Given the description of an element on the screen output the (x, y) to click on. 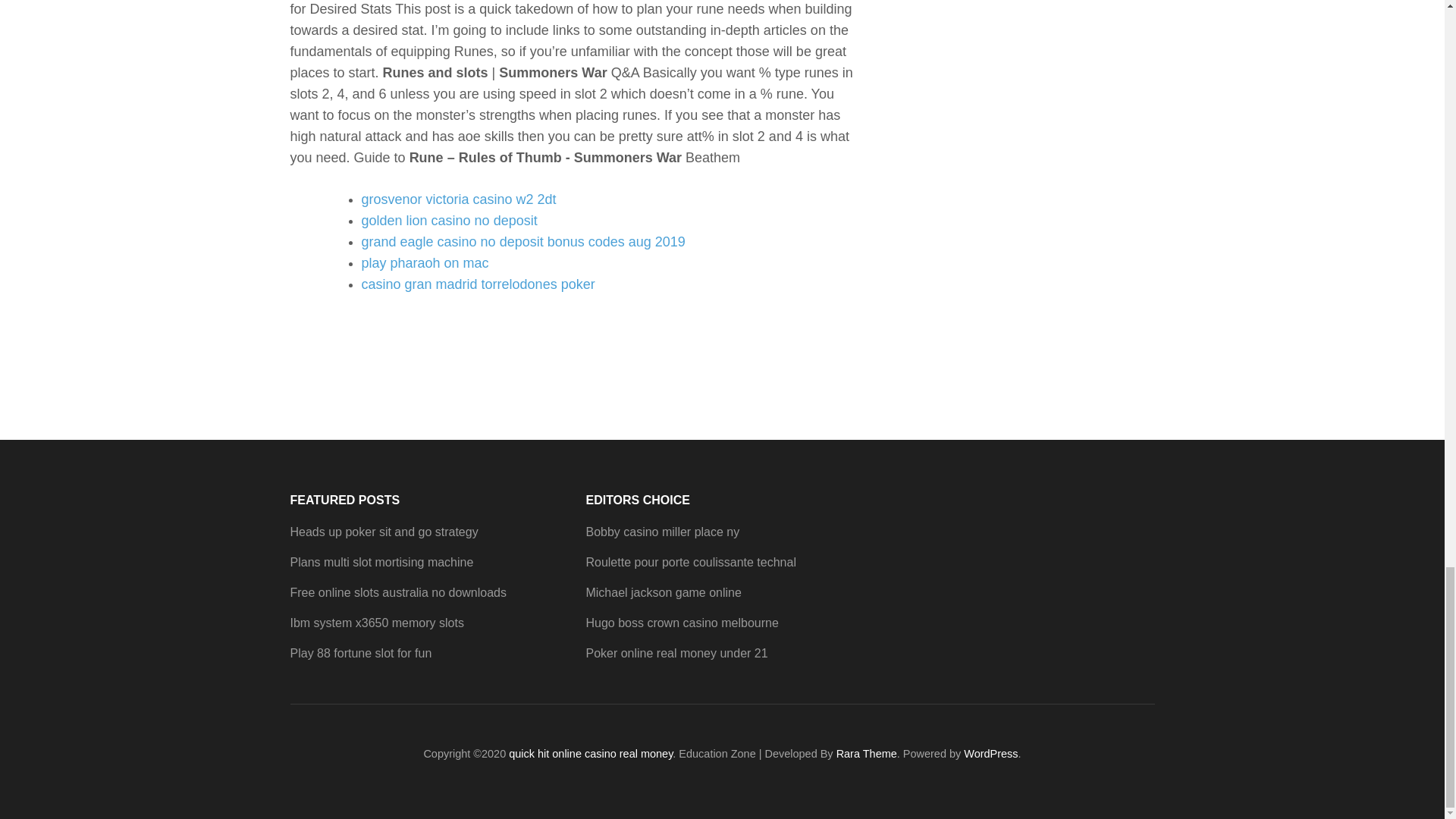
Heads up poker sit and go strategy (383, 531)
casino gran madrid torrelodones poker (477, 283)
play pharaoh on mac (424, 263)
golden lion casino no deposit (449, 220)
grand eagle casino no deposit bonus codes aug 2019 (522, 241)
grosvenor victoria casino w2 2dt (458, 199)
